Given the description of an element on the screen output the (x, y) to click on. 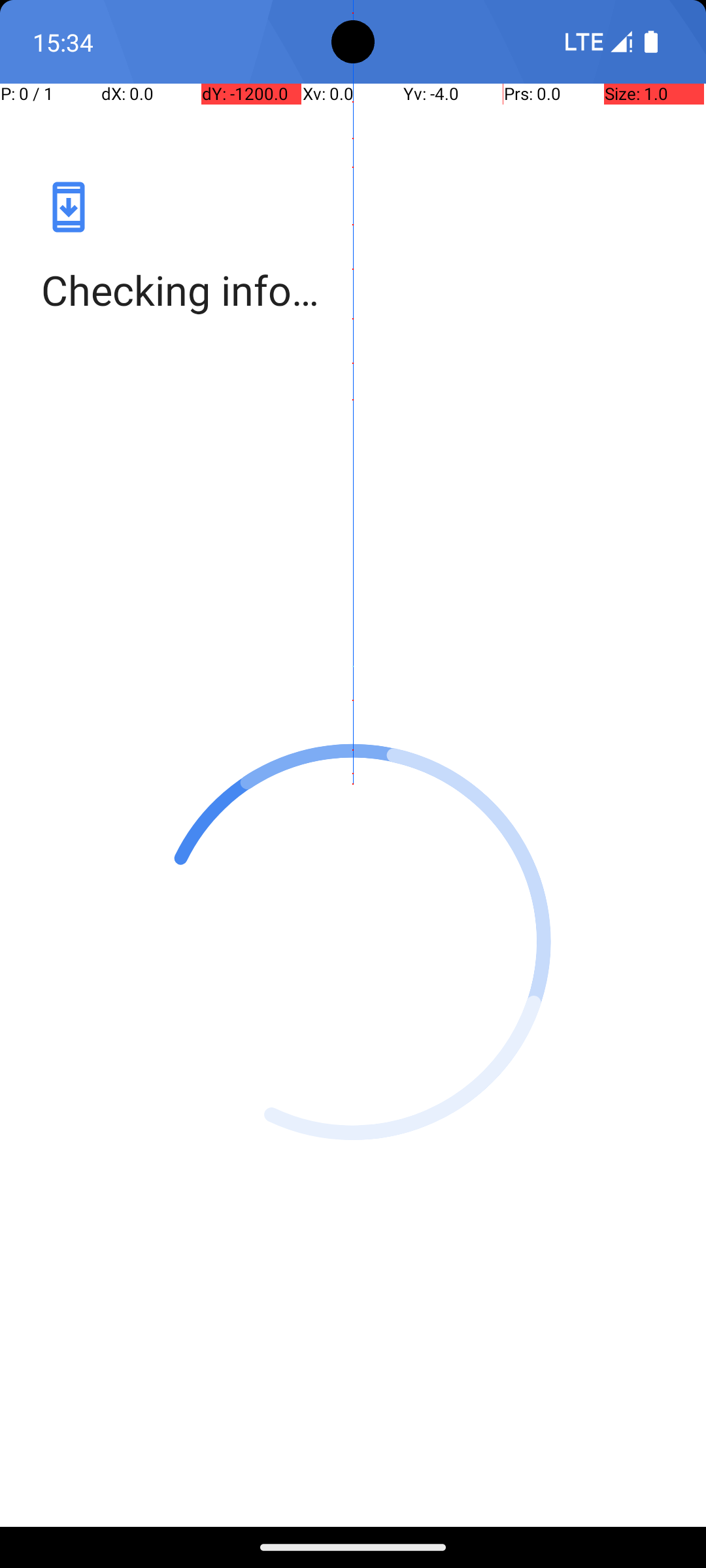
Checking info… Element type: android.widget.TextView (352, 289)
